Given the description of an element on the screen output the (x, y) to click on. 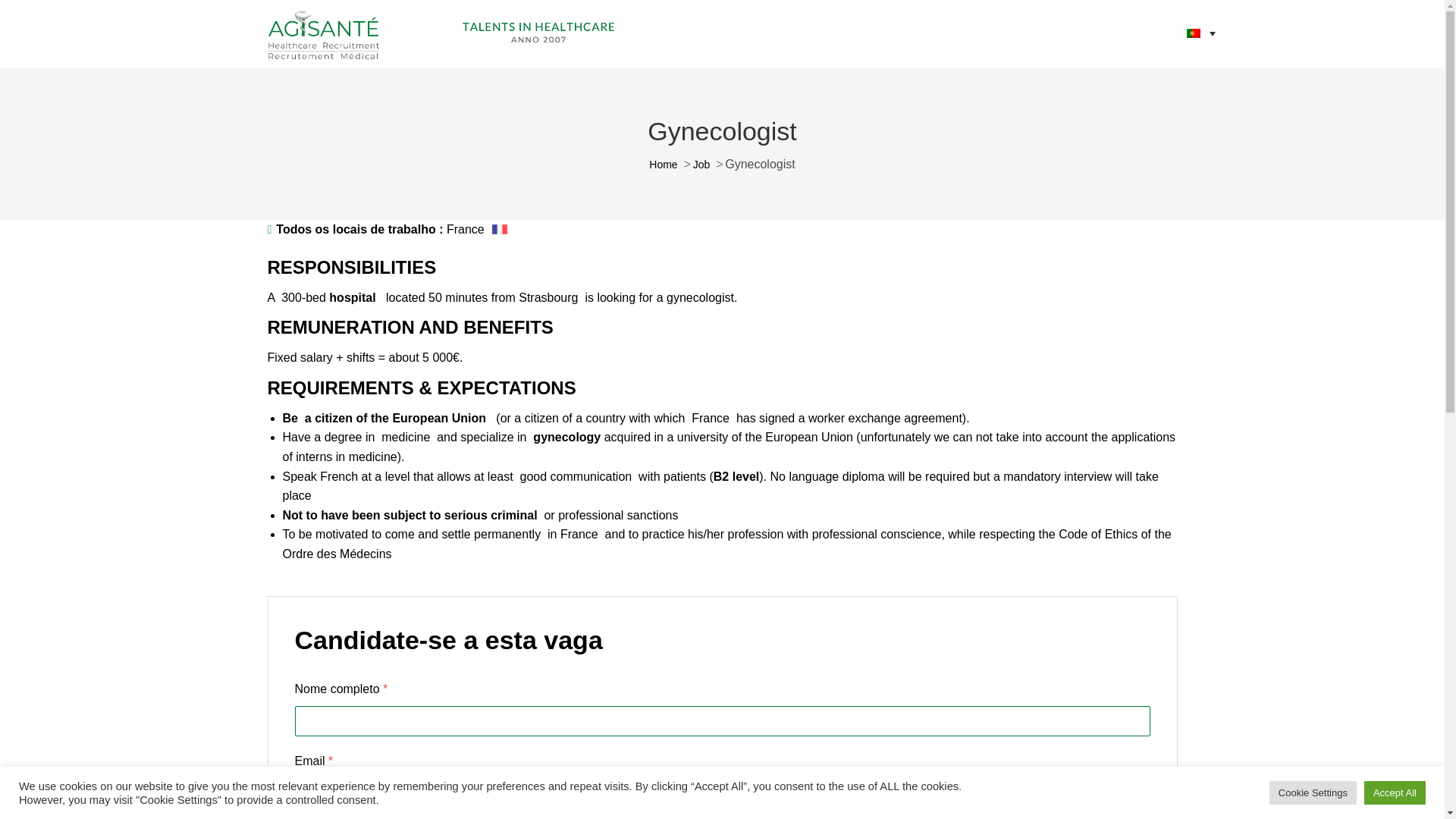
Home (676, 33)
Contatos (1104, 33)
Home (663, 164)
Job (701, 164)
Entidades Empregadoras (788, 33)
Candidatos (915, 33)
Oportunidades (1012, 33)
